Given the description of an element on the screen output the (x, y) to click on. 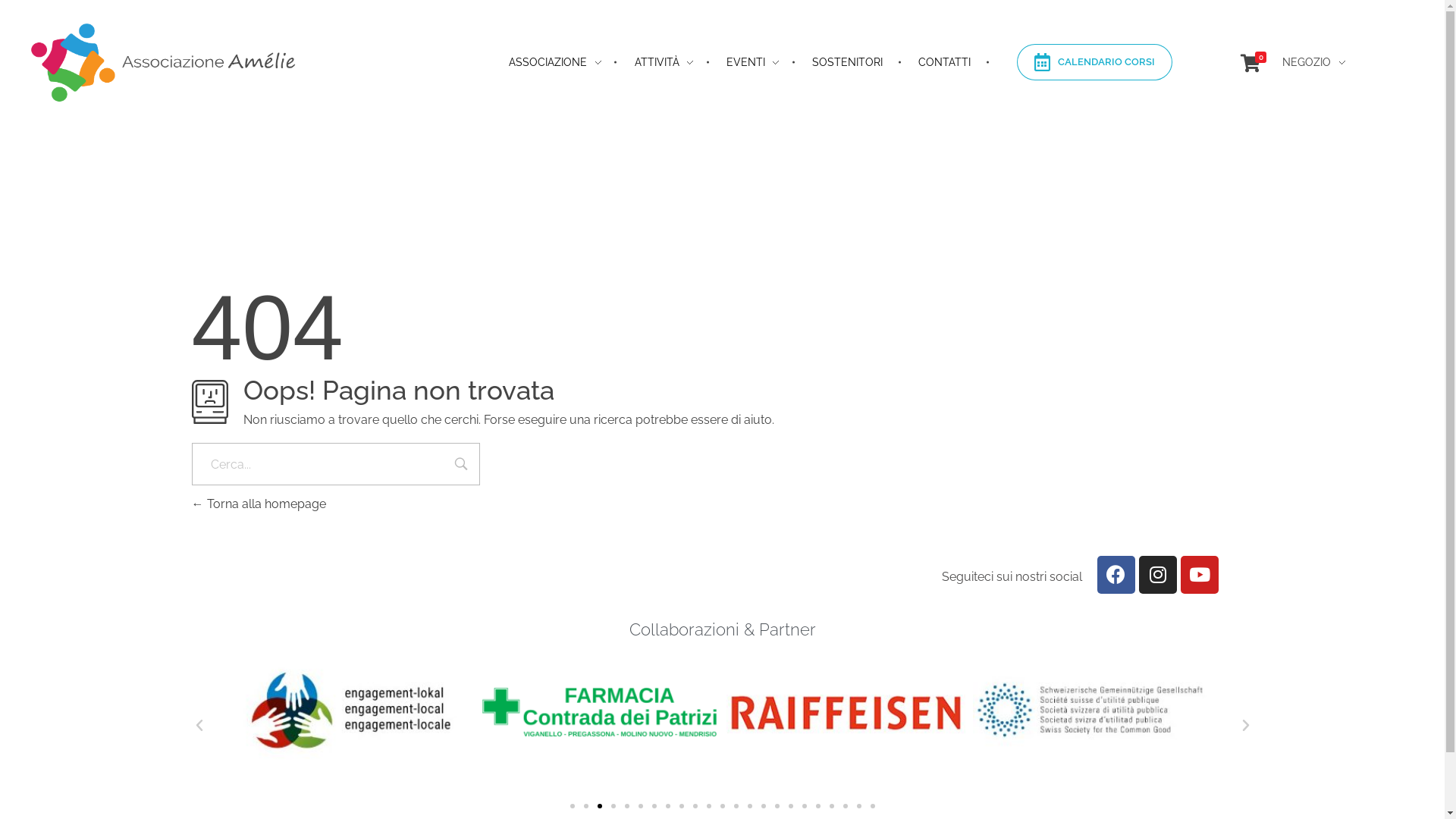
Torna alla homepage Element type: text (258, 503)
Cerca Element type: text (460, 465)
0 Element type: text (1250, 63)
CONTATTI Element type: text (931, 62)
EVENTI Element type: text (738, 62)
ASSOCIAZIONE Element type: text (540, 62)
SOSTENITORI Element type: text (834, 62)
NEGOZIO Element type: text (1313, 62)
CALENDARIO CORSI Element type: text (1094, 61)
